Given the description of an element on the screen output the (x, y) to click on. 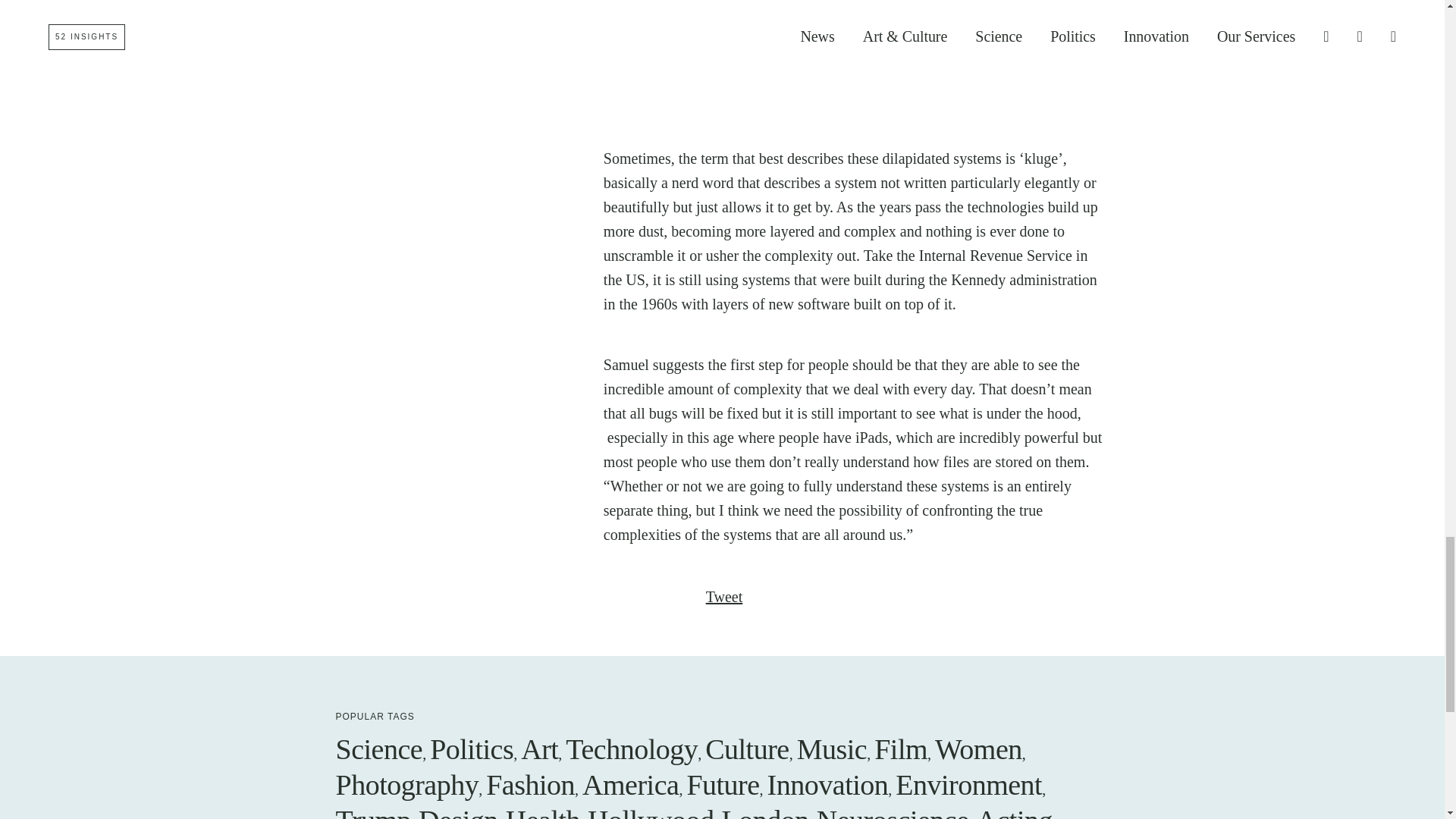
Politics (471, 748)
Science (378, 748)
Art (539, 748)
America (630, 784)
Innovation (827, 784)
Women (978, 748)
London (765, 811)
Acting (1014, 811)
Music (831, 748)
Tweet (724, 596)
